Given the description of an element on the screen output the (x, y) to click on. 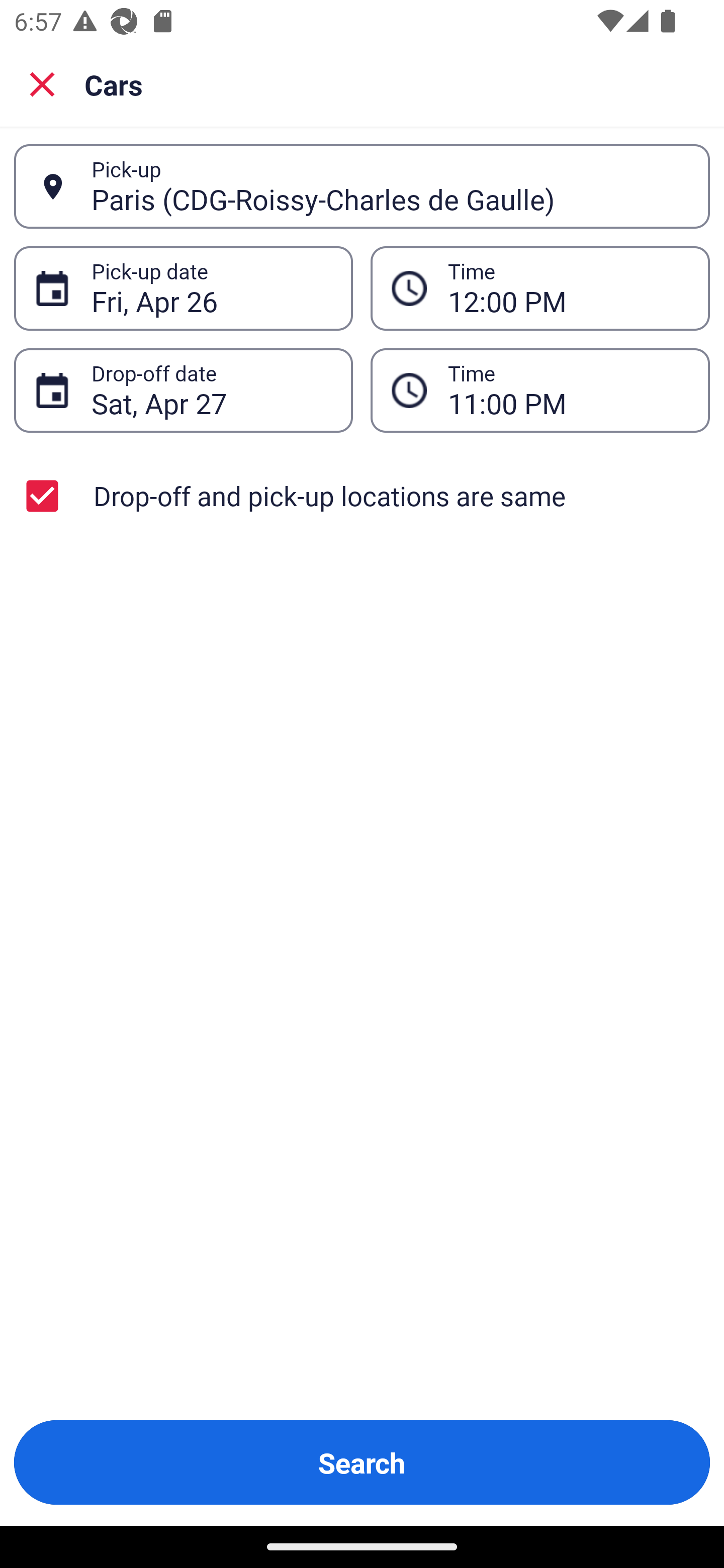
Close search screen (41, 83)
Paris (CDG-Roissy-Charles de Gaulle) Pick-up (361, 186)
Paris (CDG-Roissy-Charles de Gaulle) (389, 186)
Fri, Apr 26 Pick-up date (183, 288)
12:00 PM (540, 288)
Fri, Apr 26 (211, 288)
12:00 PM (568, 288)
Sat, Apr 27 Drop-off date (183, 390)
11:00 PM (540, 390)
Sat, Apr 27 (211, 390)
11:00 PM (568, 390)
Drop-off and pick-up locations are same (361, 495)
Search Button Search (361, 1462)
